Given the description of an element on the screen output the (x, y) to click on. 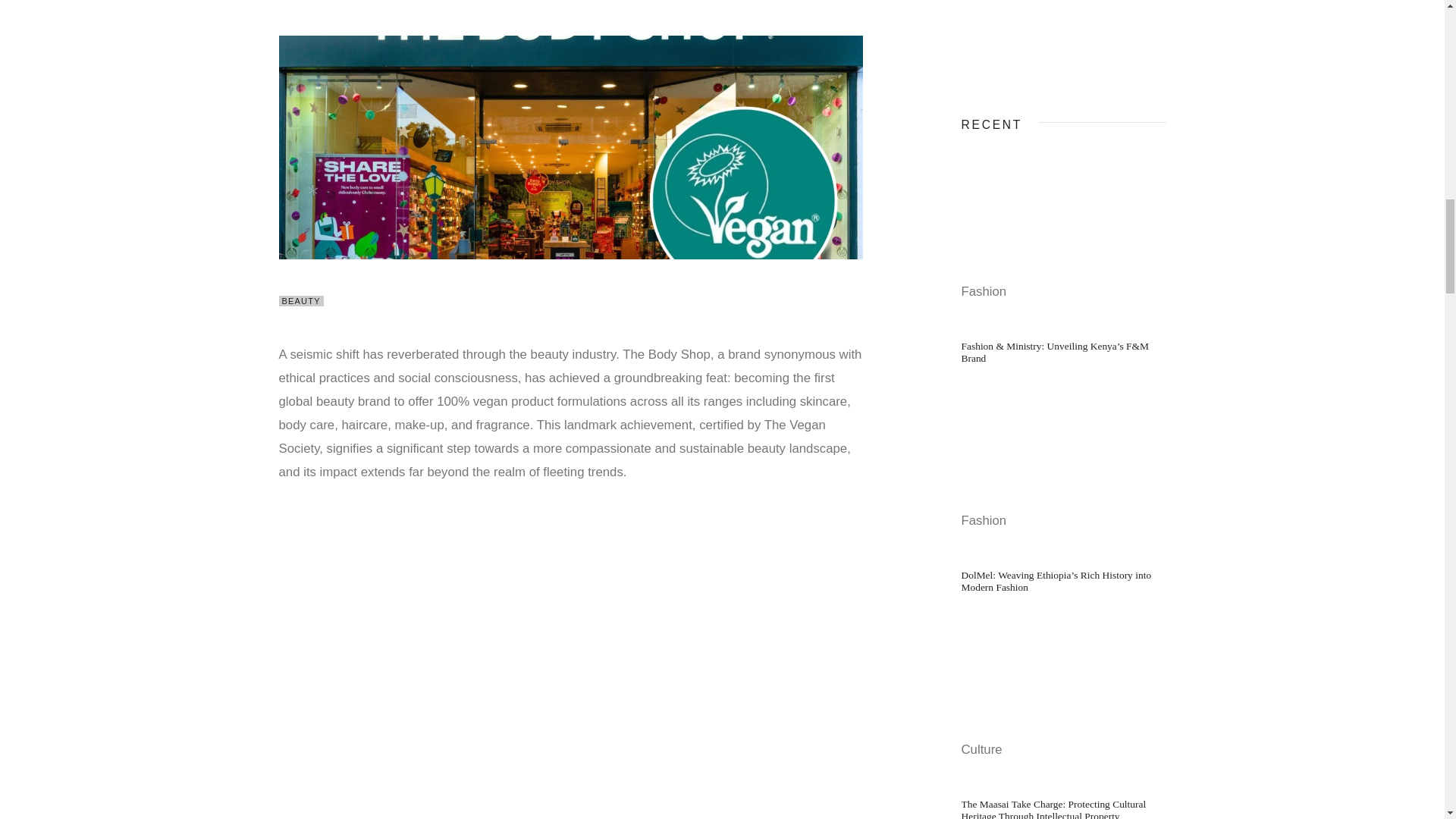
View all posts in Fashion (983, 520)
View all posts in Fashion (983, 291)
View all posts in Culture (981, 749)
